Given the description of an element on the screen output the (x, y) to click on. 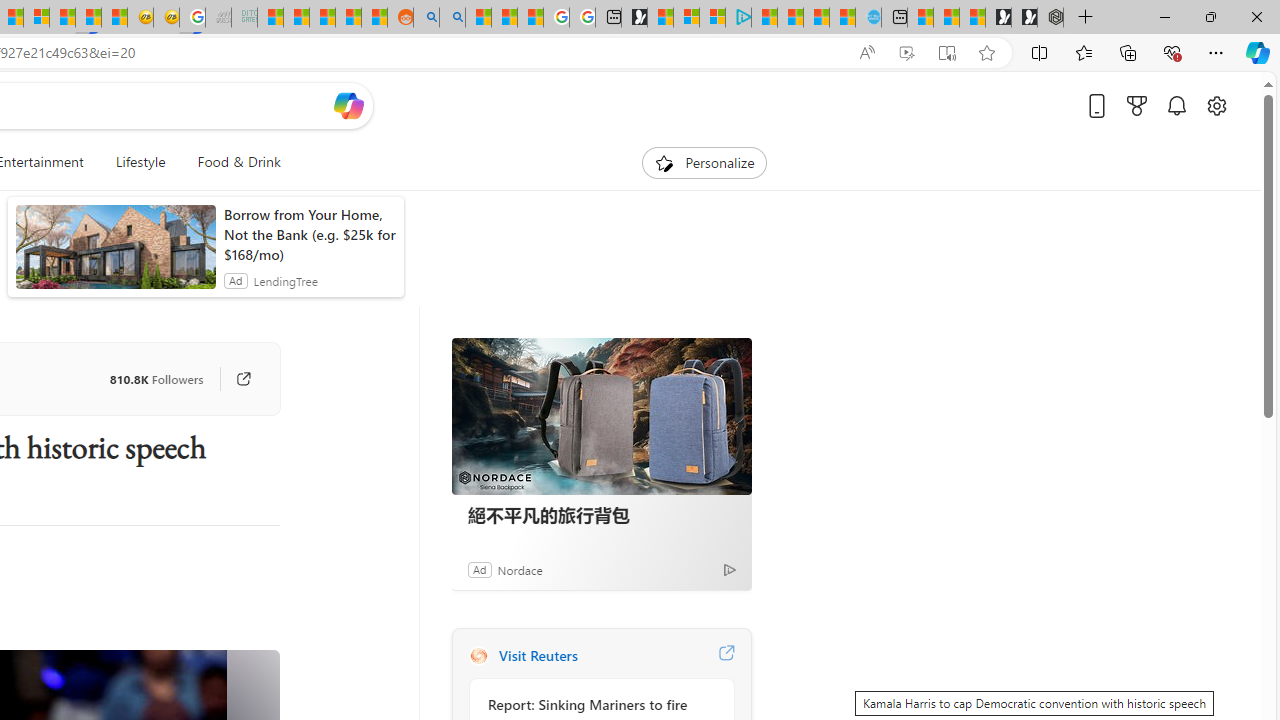
LendingTree (285, 280)
Borrow from Your Home, Not the Bank (e.g. $25k for $168/mo) (308, 234)
Food & Drink (230, 162)
